Given the description of an element on the screen output the (x, y) to click on. 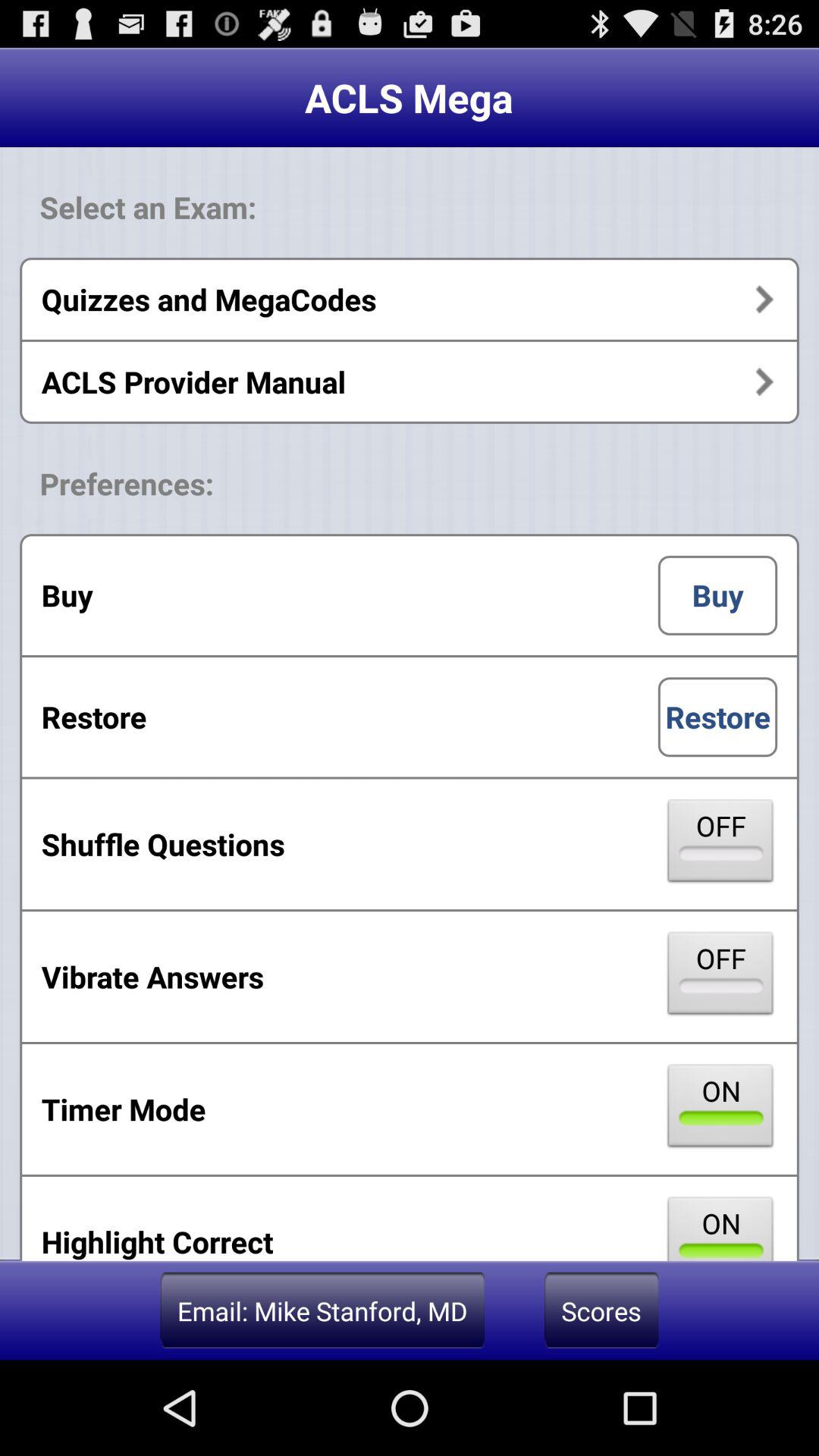
launch the scores (601, 1310)
